Given the description of an element on the screen output the (x, y) to click on. 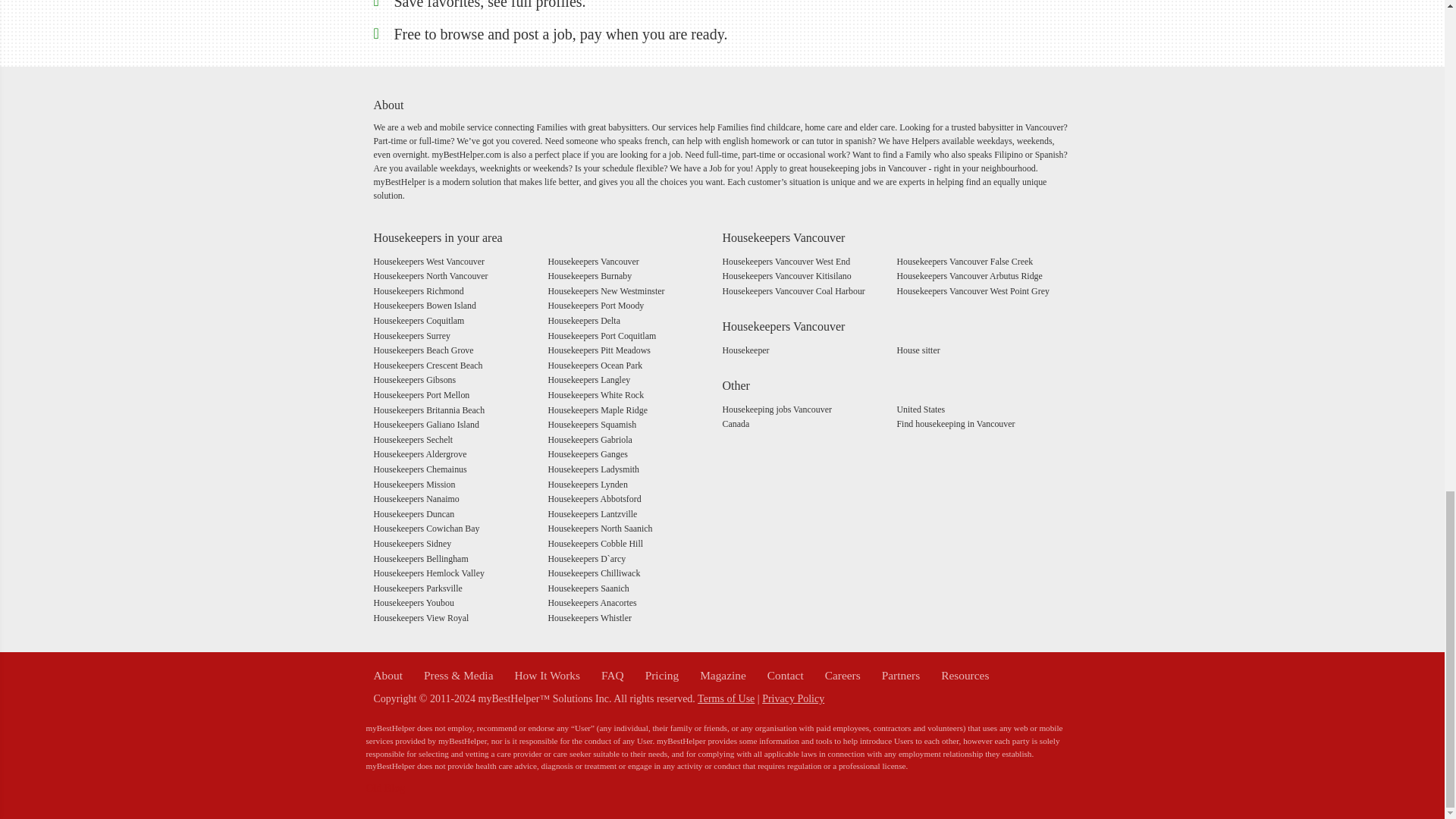
Housekeepers Richmond (417, 290)
Housekeepers Vancouver (593, 261)
Housekeepers North Vancouver (429, 276)
Housekeepers West Vancouver (428, 261)
Housekeepers Burnaby (589, 276)
